Given the description of an element on the screen output the (x, y) to click on. 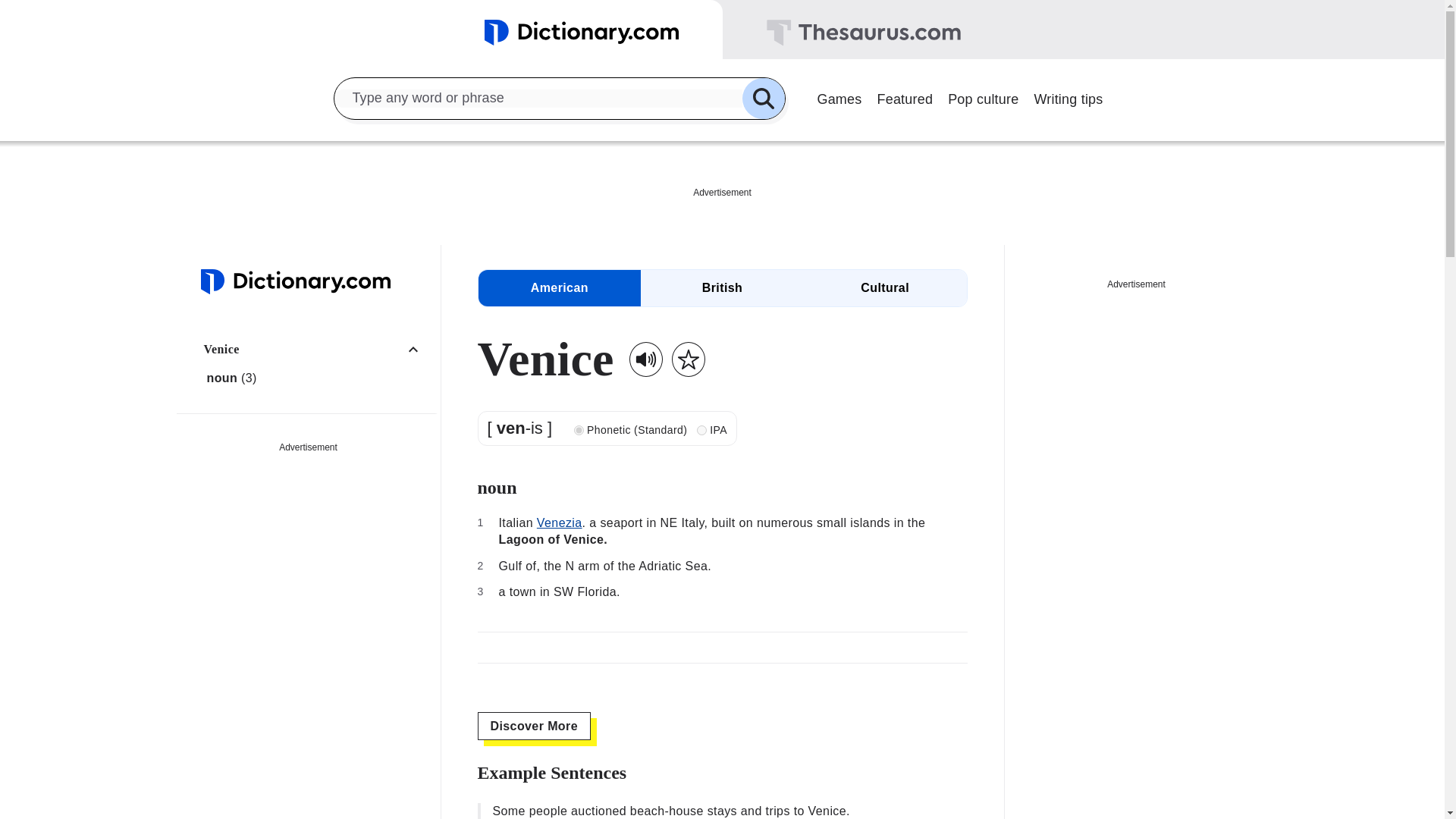
Venice (316, 349)
Pop culture (983, 97)
Games (839, 97)
phonetic (578, 429)
Featured (904, 97)
Cultural (884, 288)
Writing tips (1067, 97)
British (721, 288)
Venezia (559, 522)
American (558, 288)
ipa (701, 429)
